Given the description of an element on the screen output the (x, y) to click on. 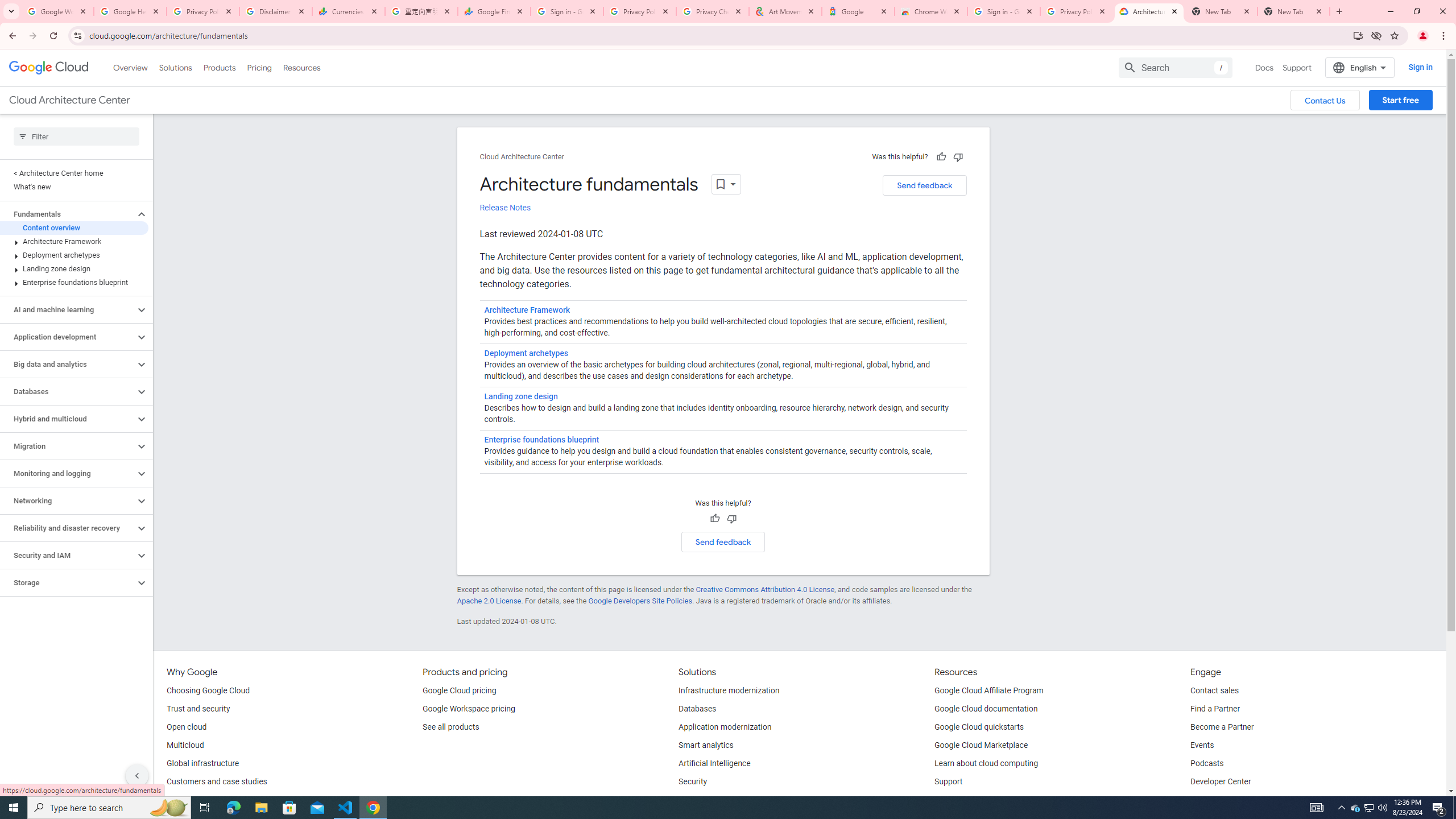
Fundamentals (67, 214)
Creative Commons Attribution 4.0 License (764, 589)
Pricing (259, 67)
Podcasts (1207, 764)
Google Cloud Marketplace (980, 745)
Deployment archetypes (74, 255)
Google Cloud quickstarts (978, 727)
Support (948, 782)
Privacy Checkup (712, 11)
Storage (67, 582)
